Given the description of an element on the screen output the (x, y) to click on. 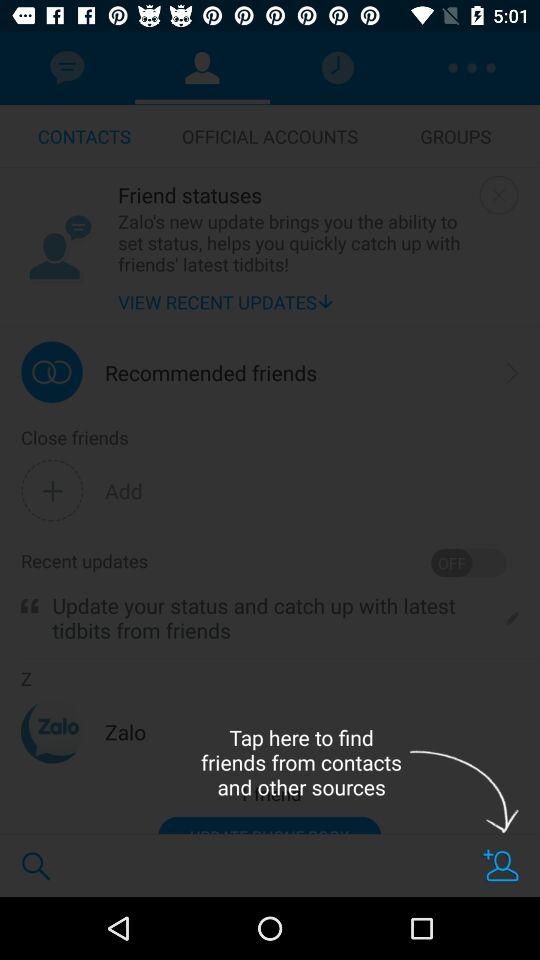
flip to recommended friends item (211, 372)
